Given the description of an element on the screen output the (x, y) to click on. 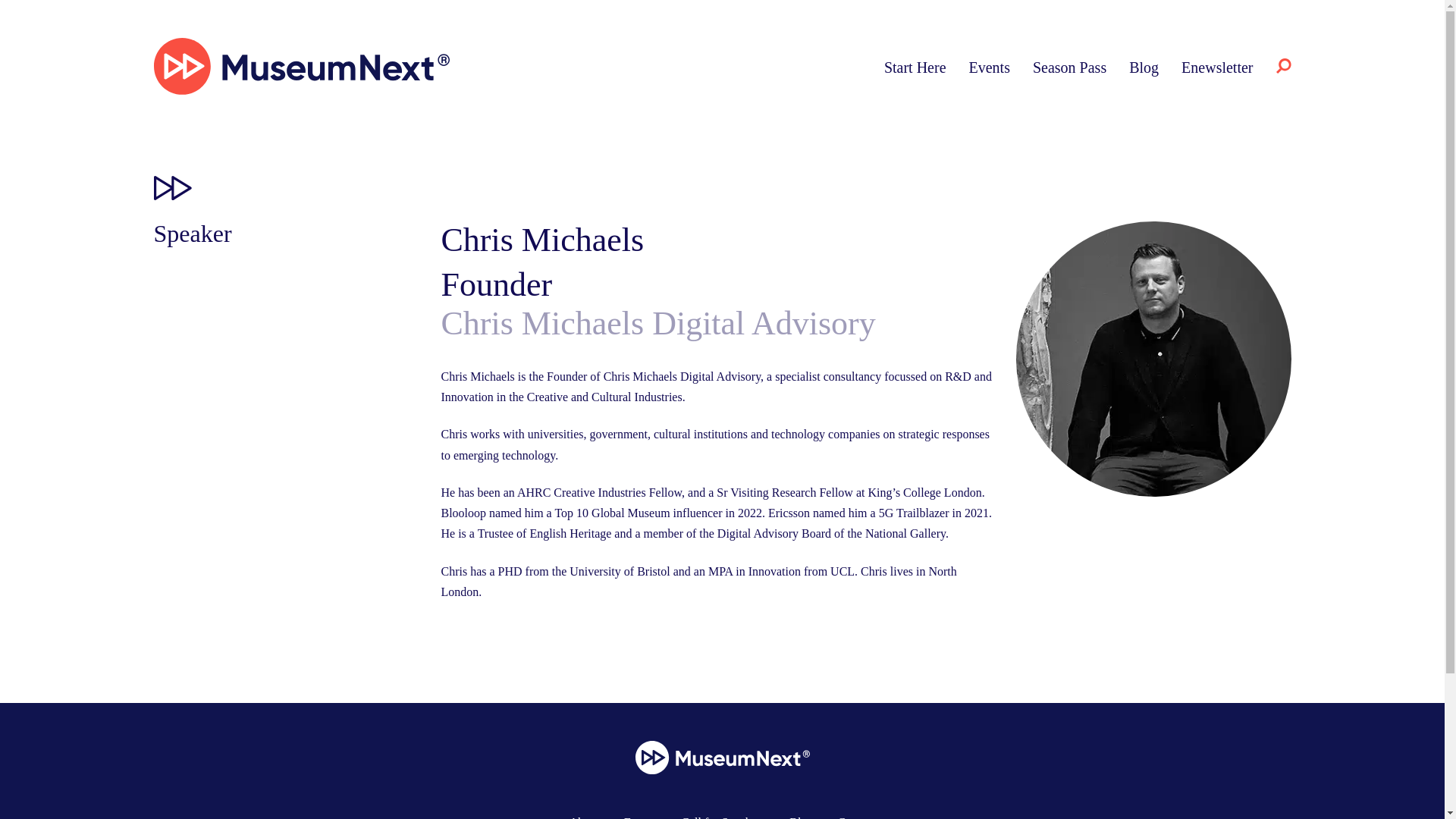
Call for Speakers (723, 817)
Season Pass (1069, 67)
Start Here (914, 67)
Blog (800, 817)
Contact (856, 817)
Blog (1143, 67)
Enewsletter (1216, 67)
About (584, 817)
Events (989, 67)
Events (641, 817)
